Given the description of an element on the screen output the (x, y) to click on. 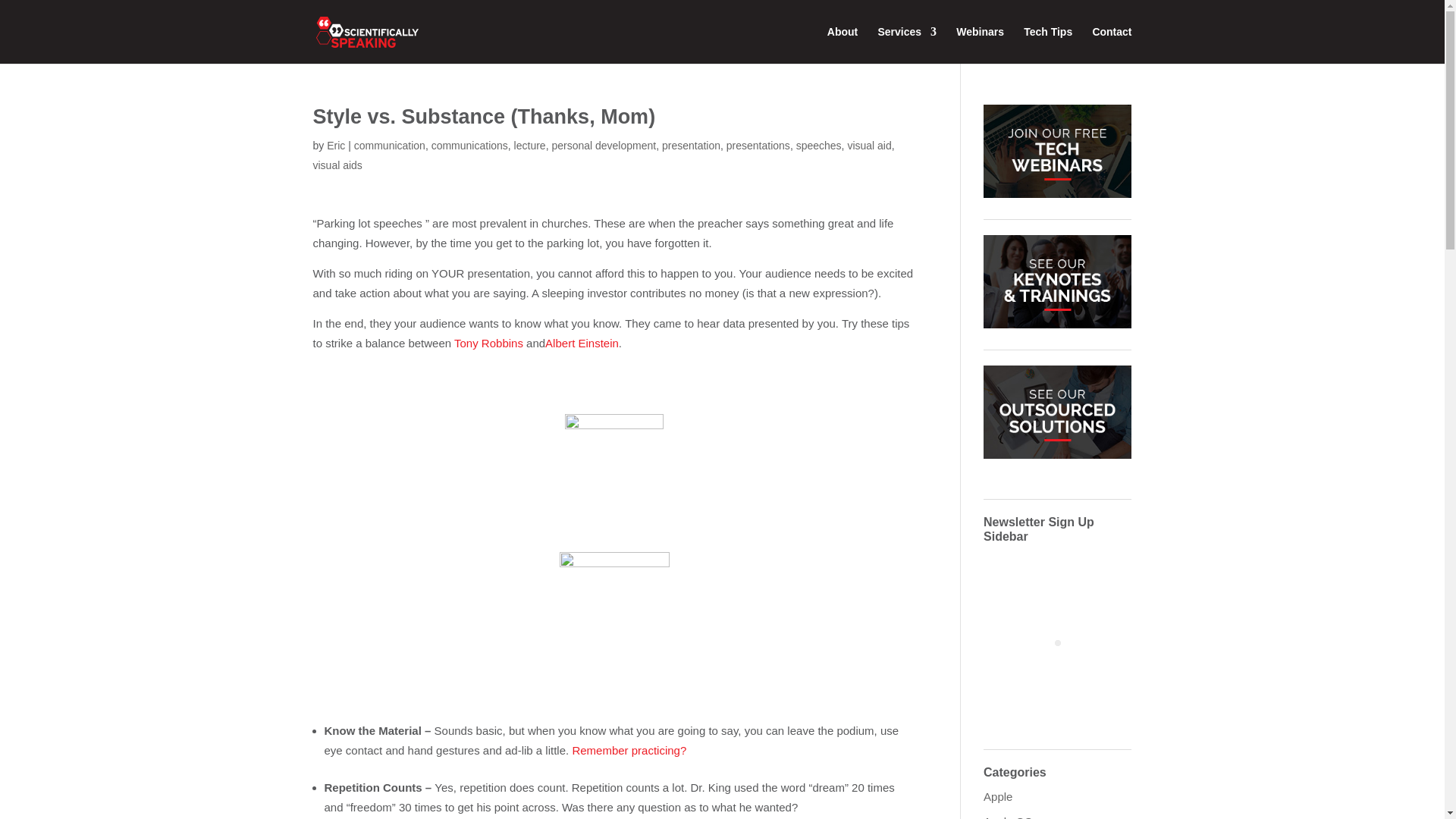
Apple (997, 796)
presentation (691, 145)
Eric (335, 145)
communications (469, 145)
personal development (603, 145)
visual aid (869, 145)
Contact (1111, 44)
Tony Robbins (488, 342)
Webinars (980, 44)
presentations (758, 145)
Tech Tips (1047, 44)
Remember practicing? (628, 749)
visual aids (337, 164)
Apple OS (1008, 816)
speeches (818, 145)
